Given the description of an element on the screen output the (x, y) to click on. 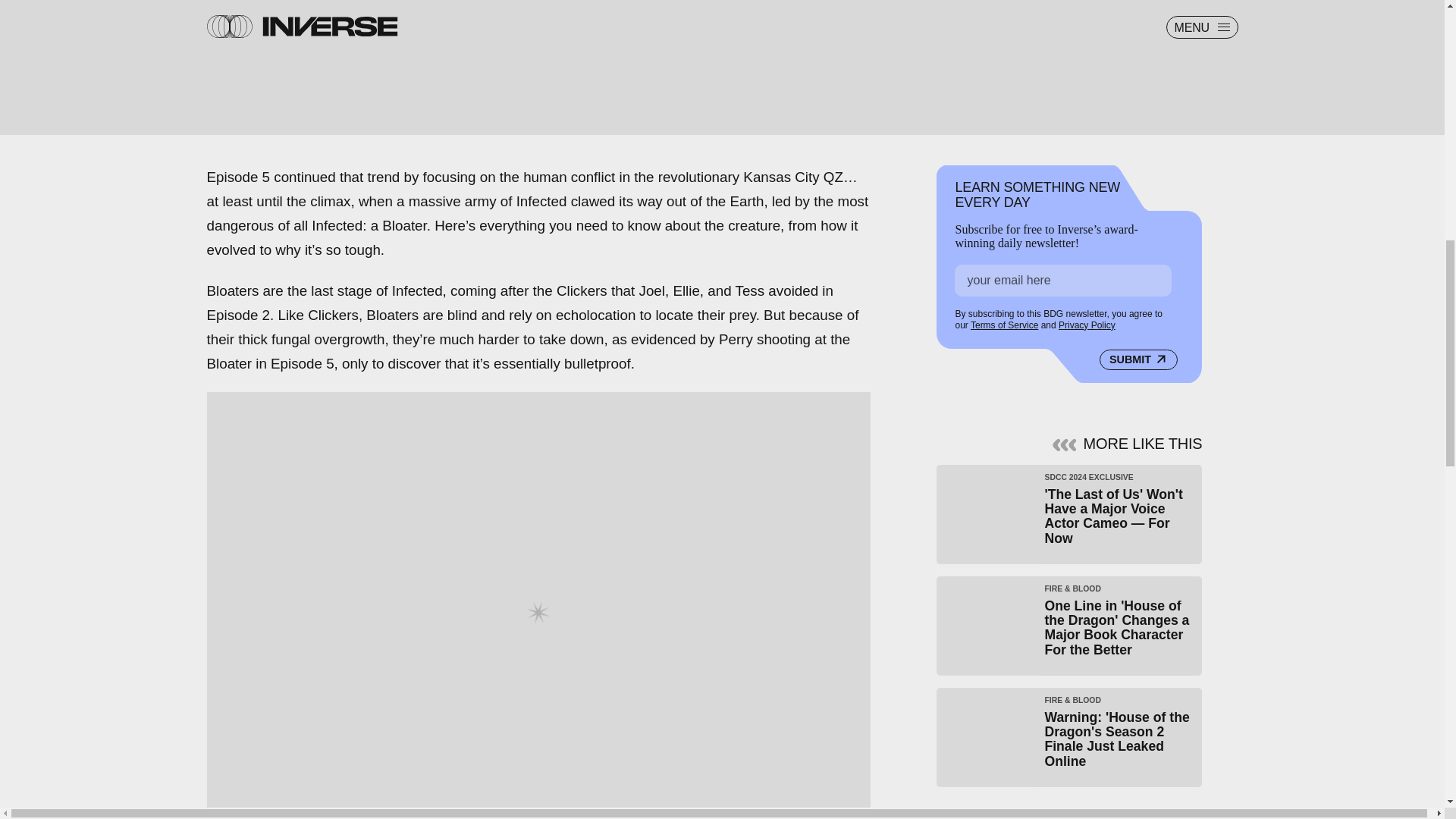
SUBMIT (1138, 355)
Privacy Policy (1086, 322)
Terms of Service (1004, 321)
